Given the description of an element on the screen output the (x, y) to click on. 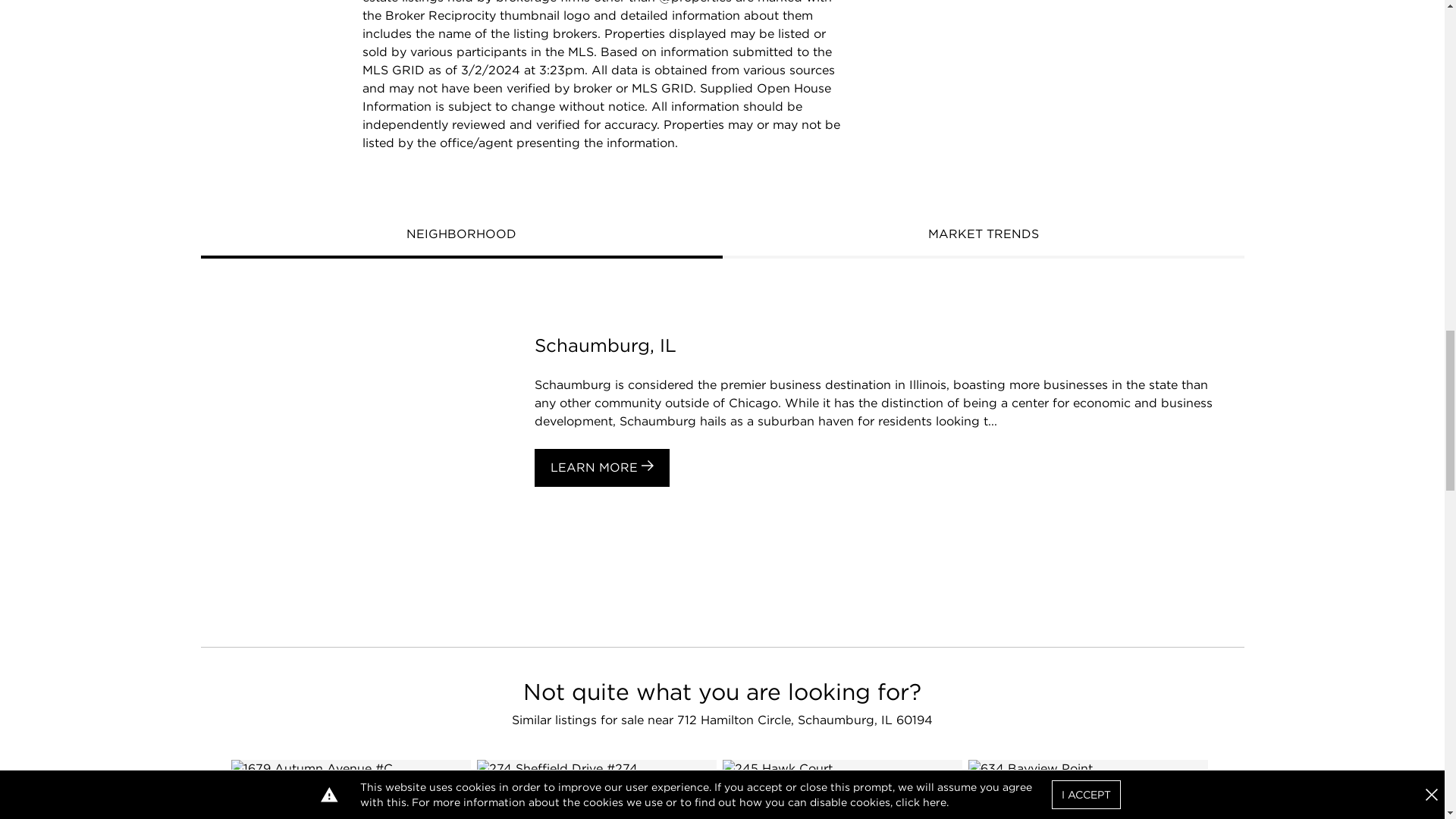
LEARN MORE (601, 467)
NEIGHBORHOOD (461, 235)
MARKET TRENDS (982, 235)
